Given the description of an element on the screen output the (x, y) to click on. 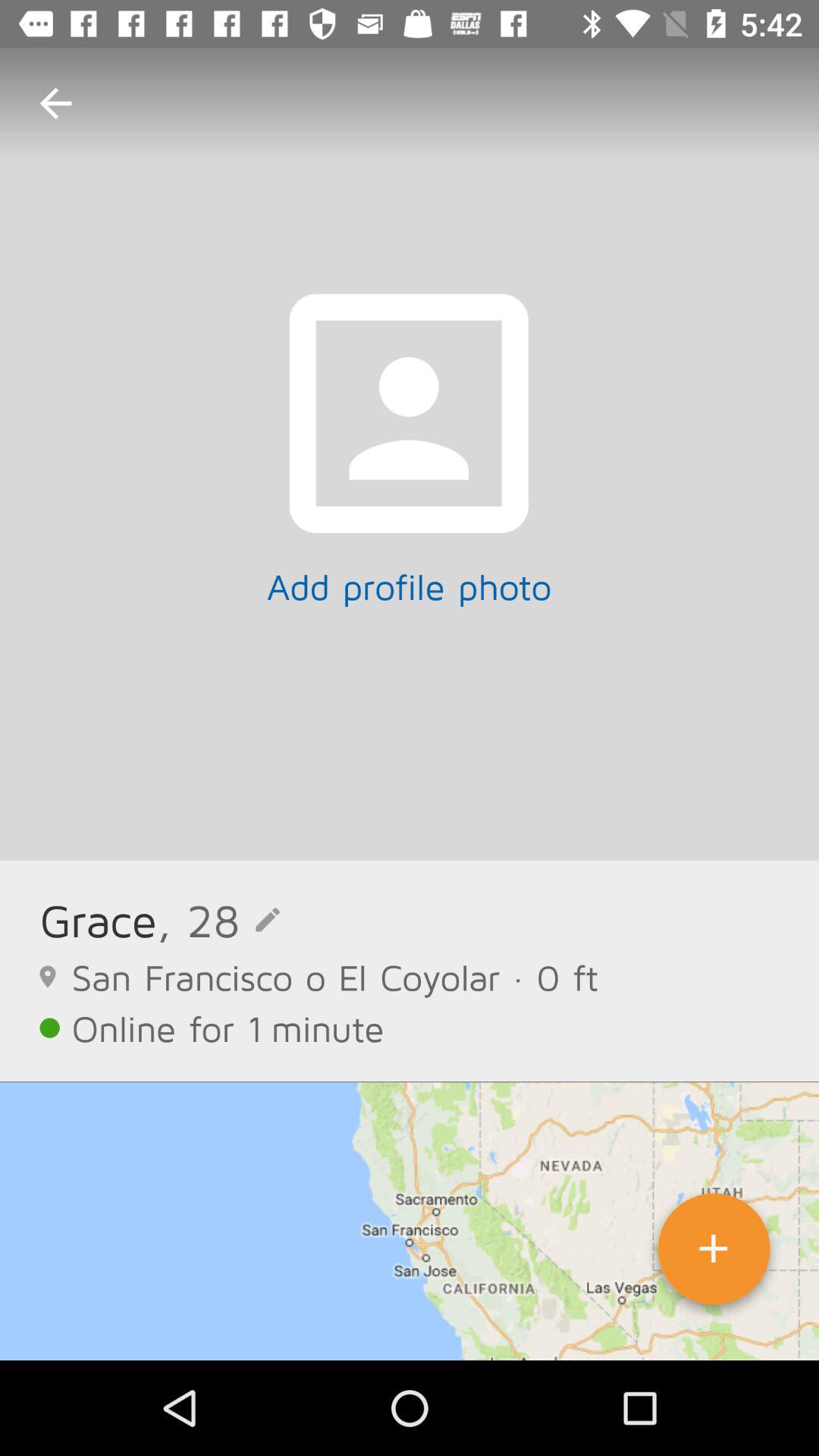
click the icon at the top left corner (55, 103)
